Given the description of an element on the screen output the (x, y) to click on. 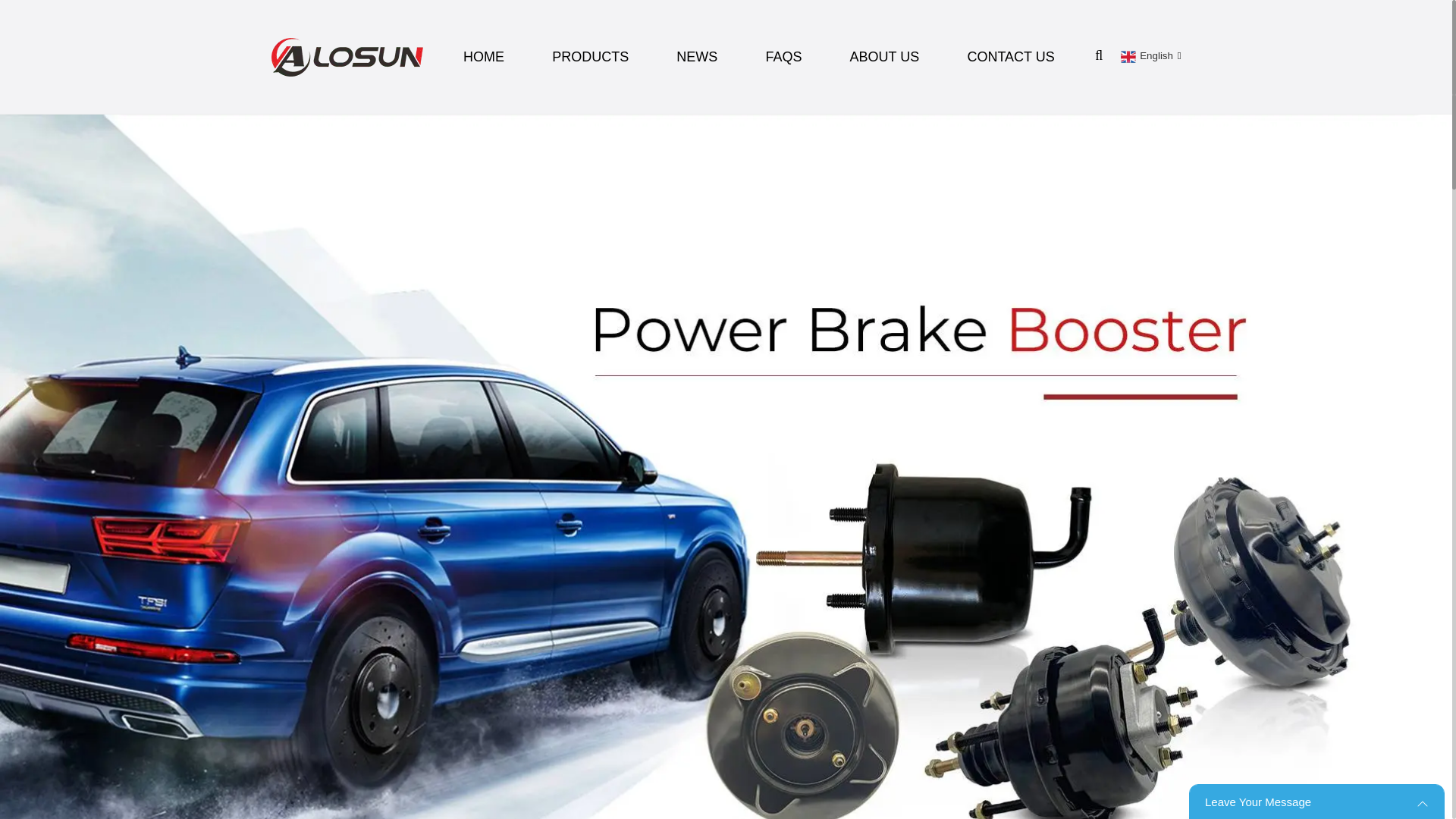
HOME (483, 56)
English (1148, 55)
CONTACT US (1010, 56)
ABOUT US (885, 56)
PRODUCTS (590, 56)
NEWS (696, 56)
FAQS (783, 56)
